Given the description of an element on the screen output the (x, y) to click on. 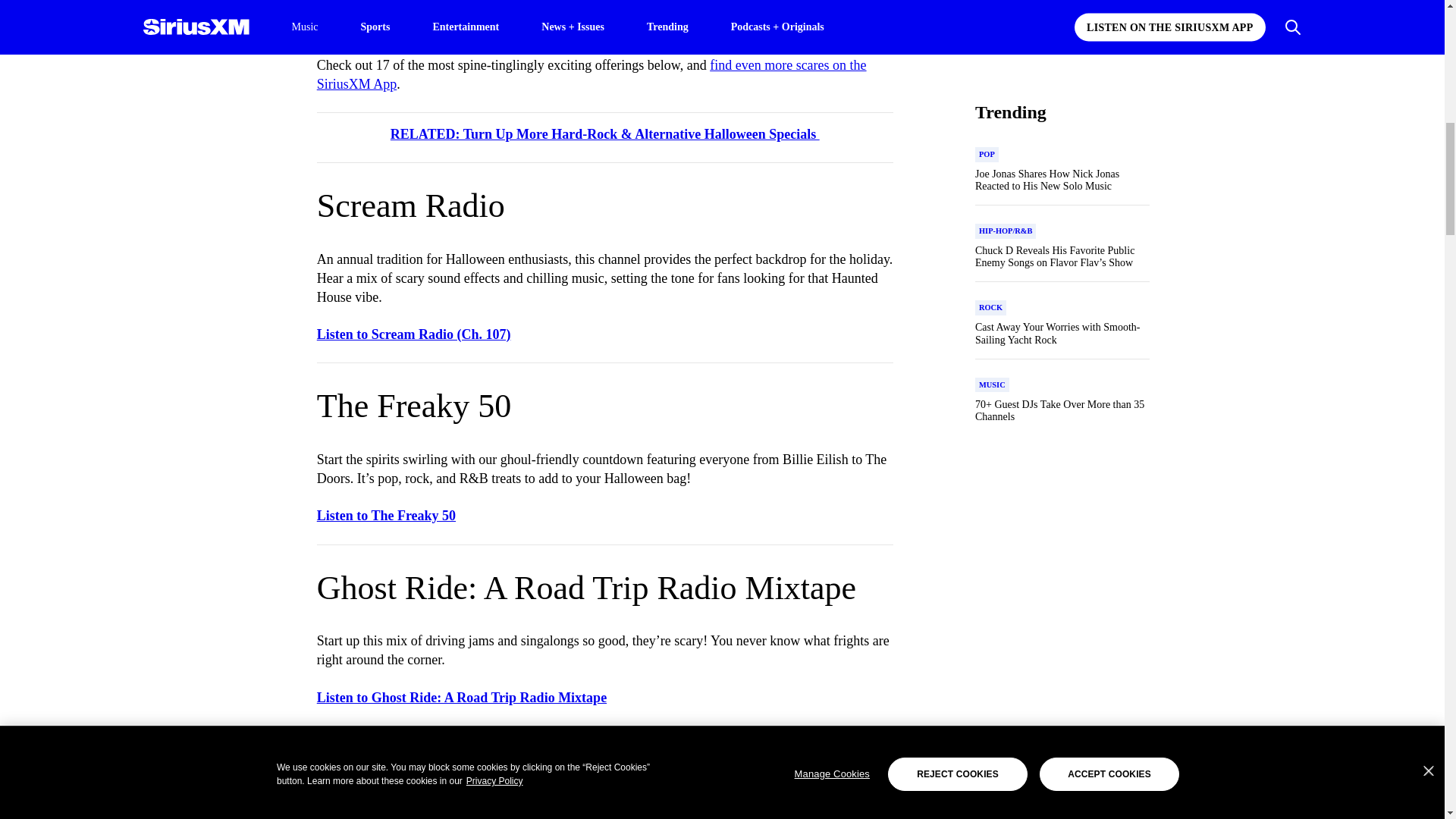
SCREAM Radio (601, 17)
Listen to The Freaky 50 (386, 515)
find even more scares on the SiriusXM App (591, 74)
Listen to Ghost Ride: A Road Trip Radio Mixtape (462, 697)
